Given the description of an element on the screen output the (x, y) to click on. 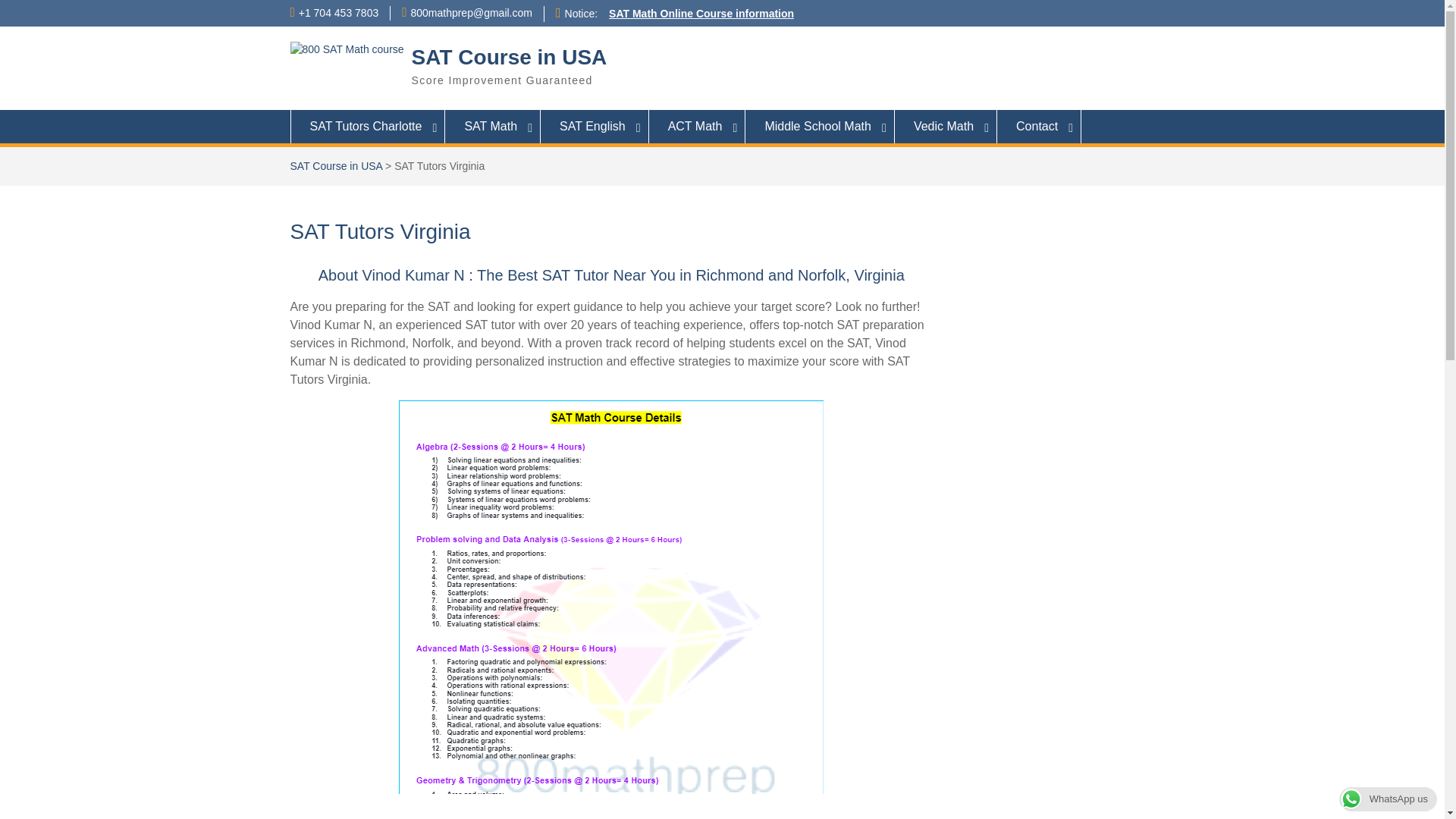
SAT Course in USA (509, 56)
SAT Math Online Course information (700, 13)
SAT Tutors Charlotte (367, 126)
SAT Math (492, 126)
